Given the description of an element on the screen output the (x, y) to click on. 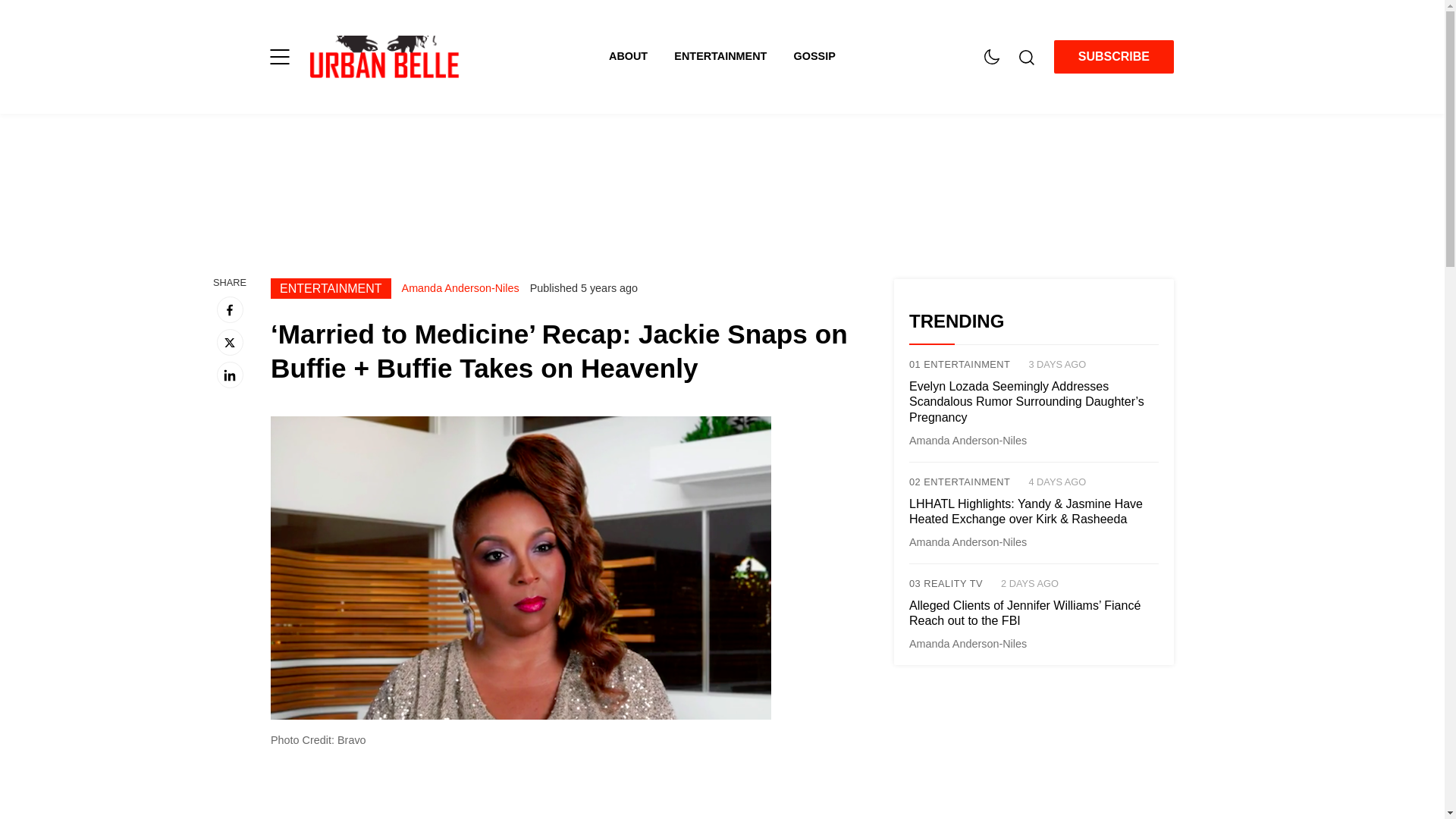
Posts by Amanda Anderson-Niles (967, 541)
ABOUT (641, 56)
ENTERTAINMENT (733, 56)
SUBSCRIBE (1113, 57)
SUBSCRIBE (1113, 56)
Posts by Amanda Anderson-Niles (967, 644)
GOSSIP (814, 56)
Posts by Amanda Anderson-Niles (967, 440)
Amanda Anderson-Niles (460, 287)
Posts by Amanda Anderson-Niles (460, 287)
